Given the description of an element on the screen output the (x, y) to click on. 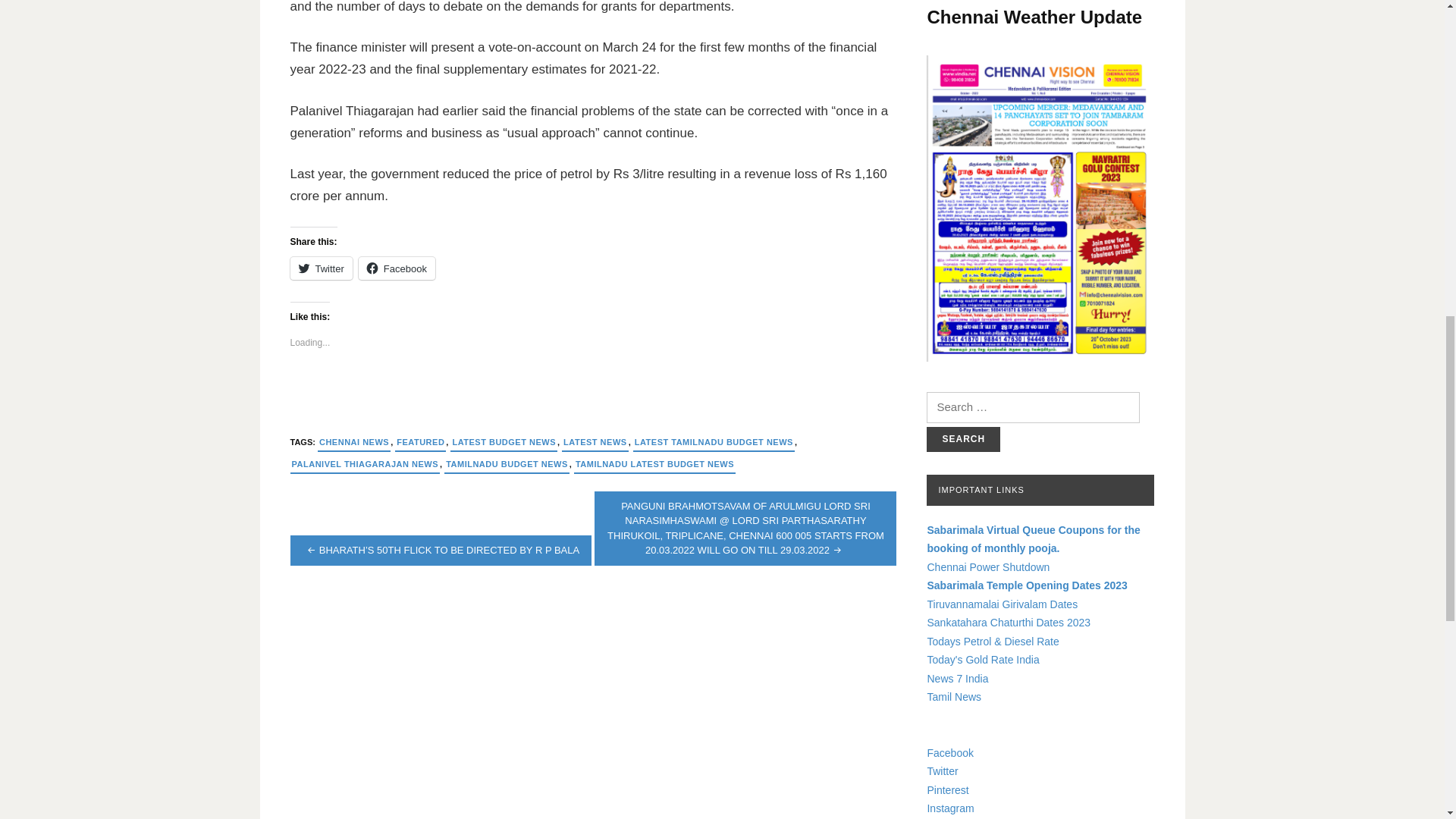
Search (963, 439)
Like or Reblog (592, 393)
Click to share on Facebook (396, 268)
Click to share on Twitter (320, 268)
Search (963, 439)
